Given the description of an element on the screen output the (x, y) to click on. 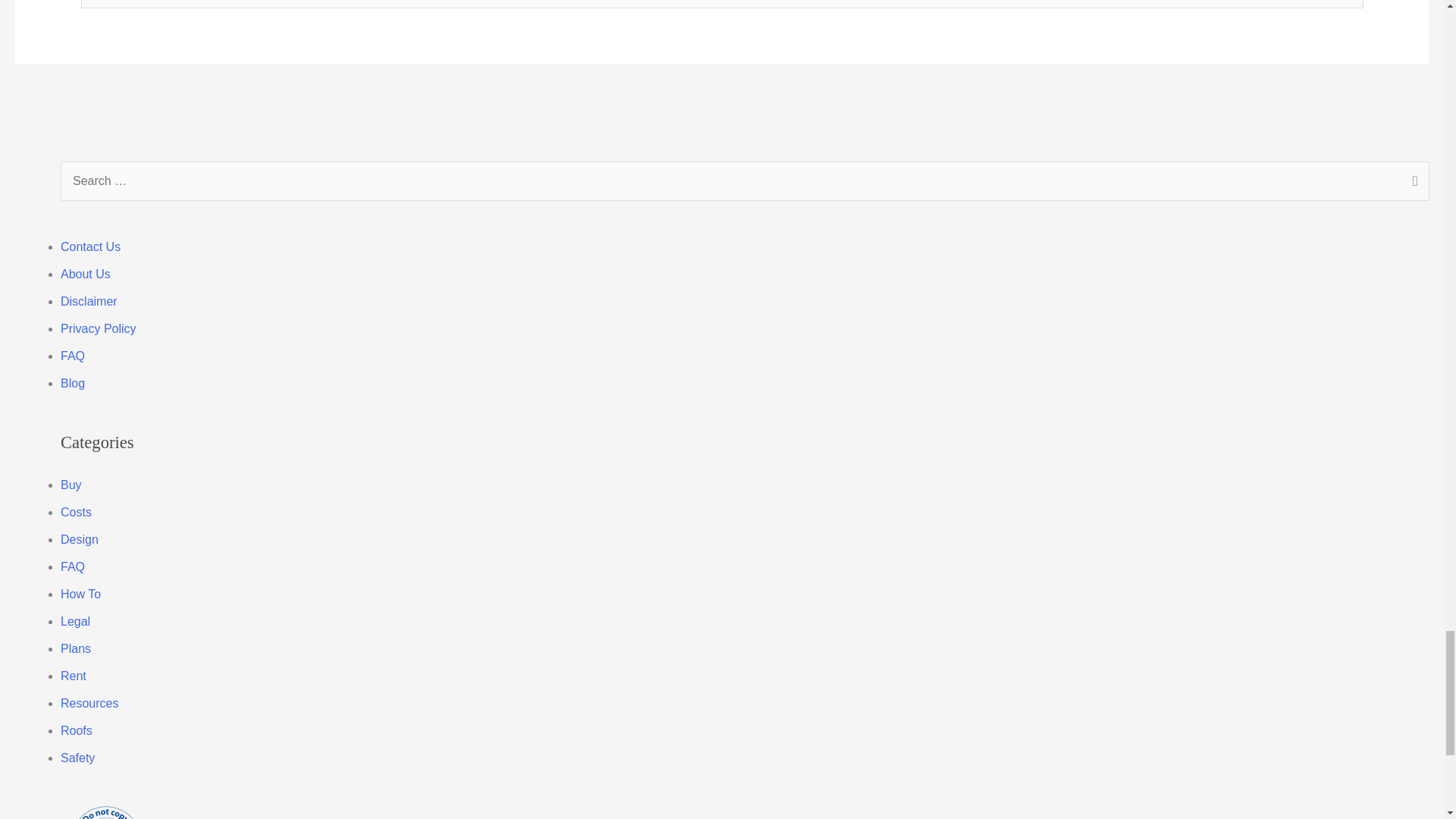
Protected by Copyscape - Do not copy content from this page. (106, 811)
About Us (85, 273)
Disclaimer (89, 300)
Contact Us (90, 246)
